Given the description of an element on the screen output the (x, y) to click on. 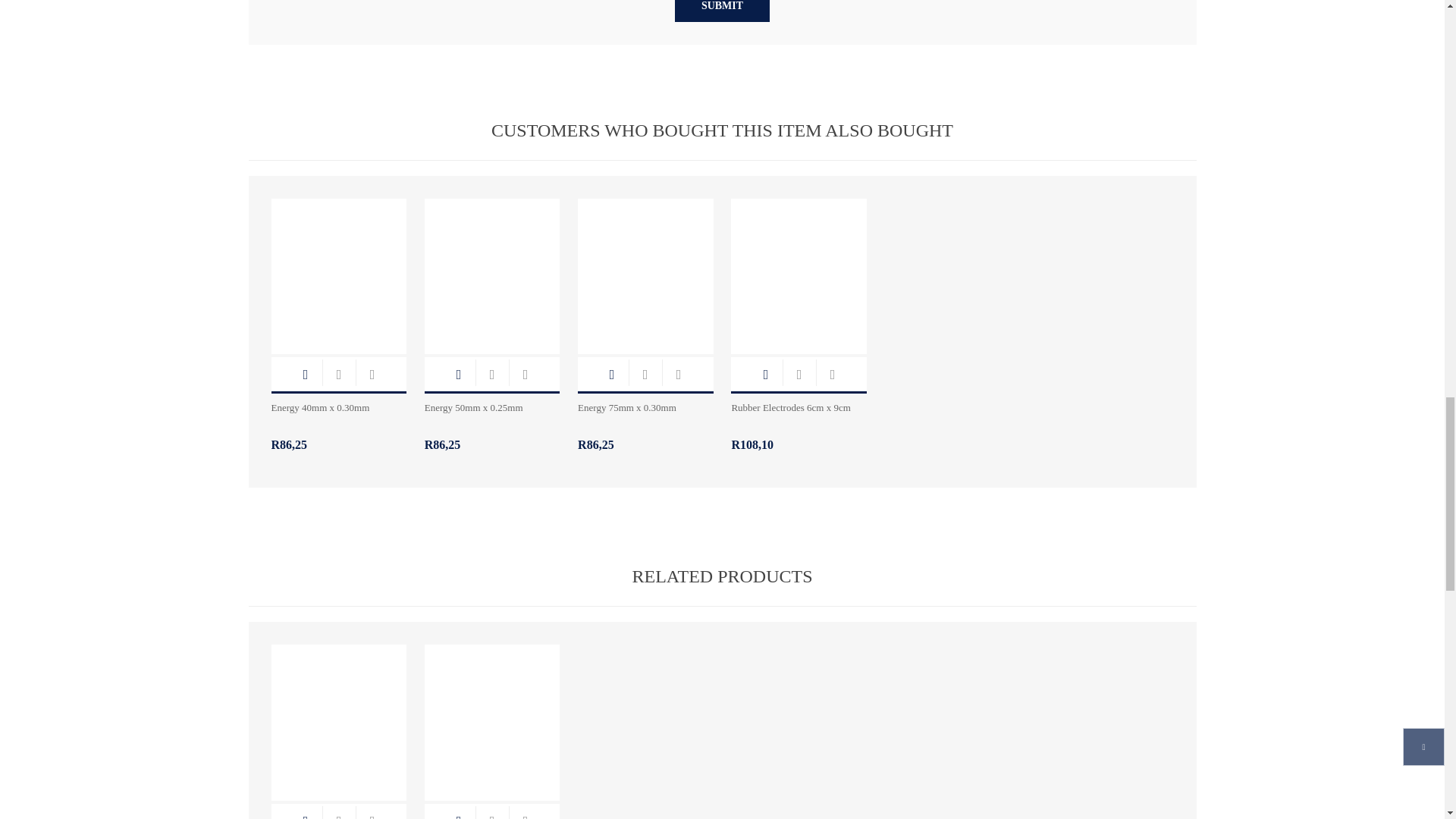
Energy Acupuncture needles (338, 269)
Add to wishlist (371, 374)
Add to compare list (492, 374)
Add to compare list (338, 374)
Add to wishlist (524, 374)
Energy Acupuncture needles (492, 269)
